Given the description of an element on the screen output the (x, y) to click on. 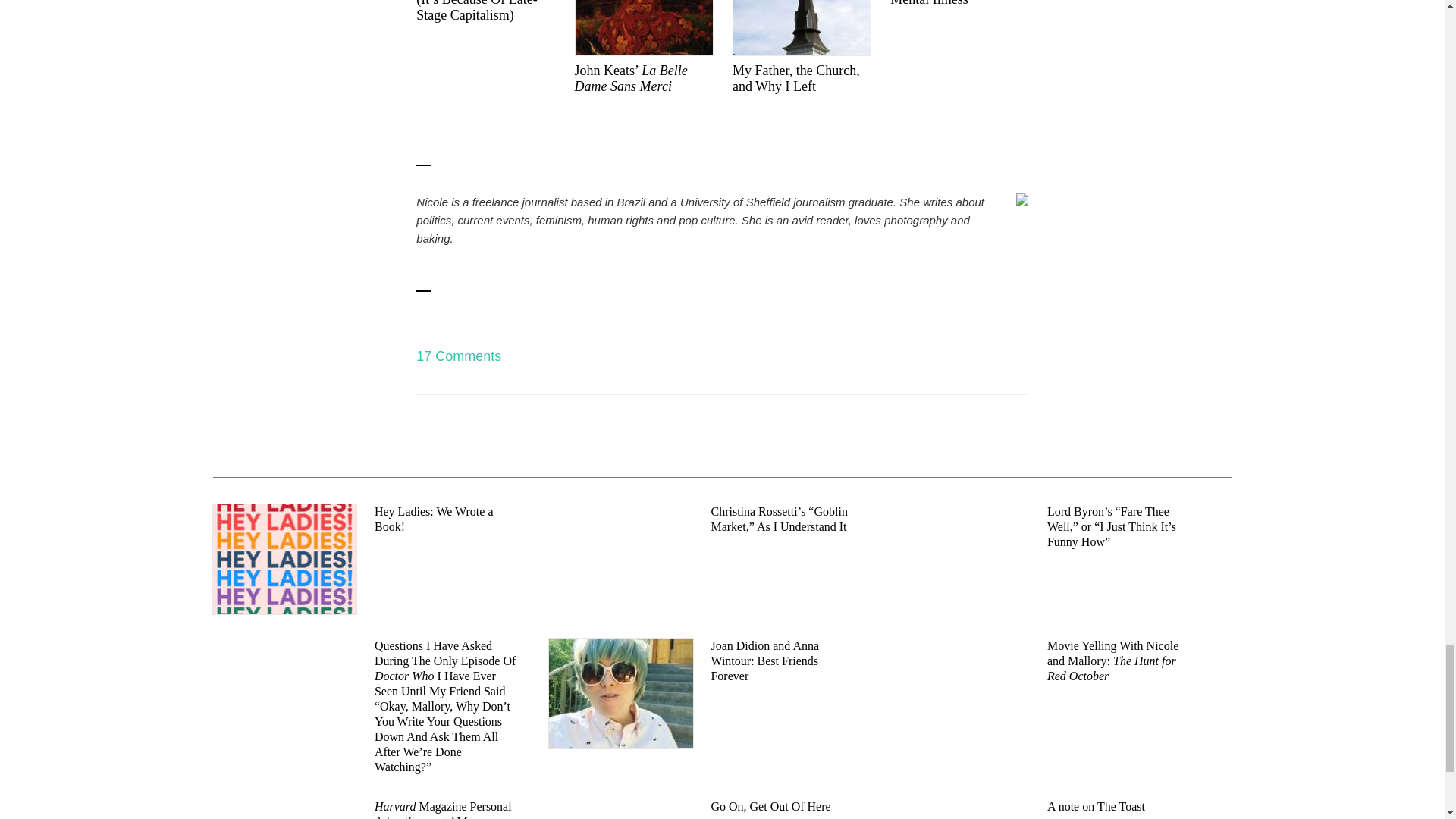
17 Comments (458, 355)
My Father, the Church, and Why I Left (800, 47)
